Given the description of an element on the screen output the (x, y) to click on. 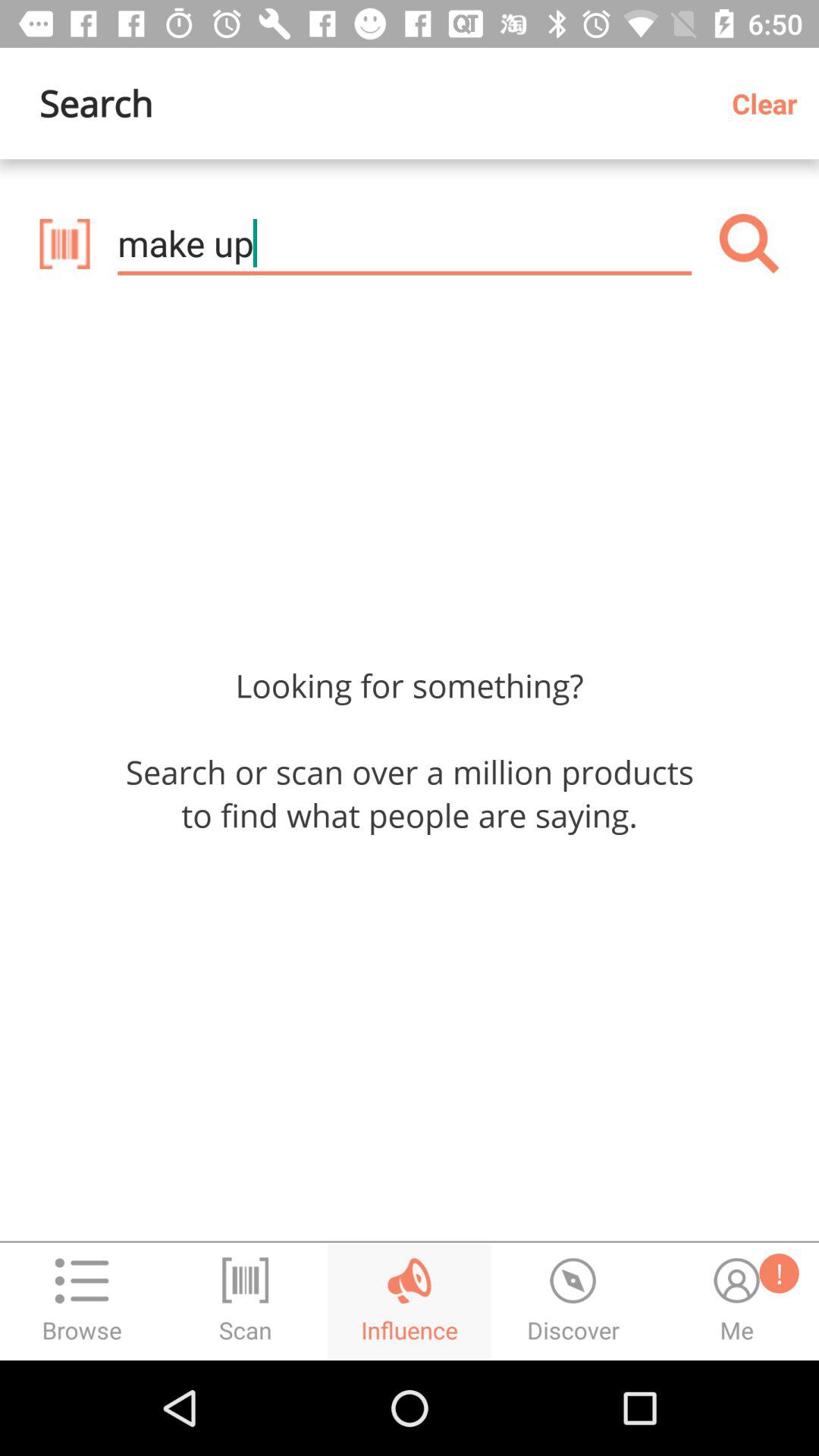
select the icon above the looking for something icon (749, 243)
